Given the description of an element on the screen output the (x, y) to click on. 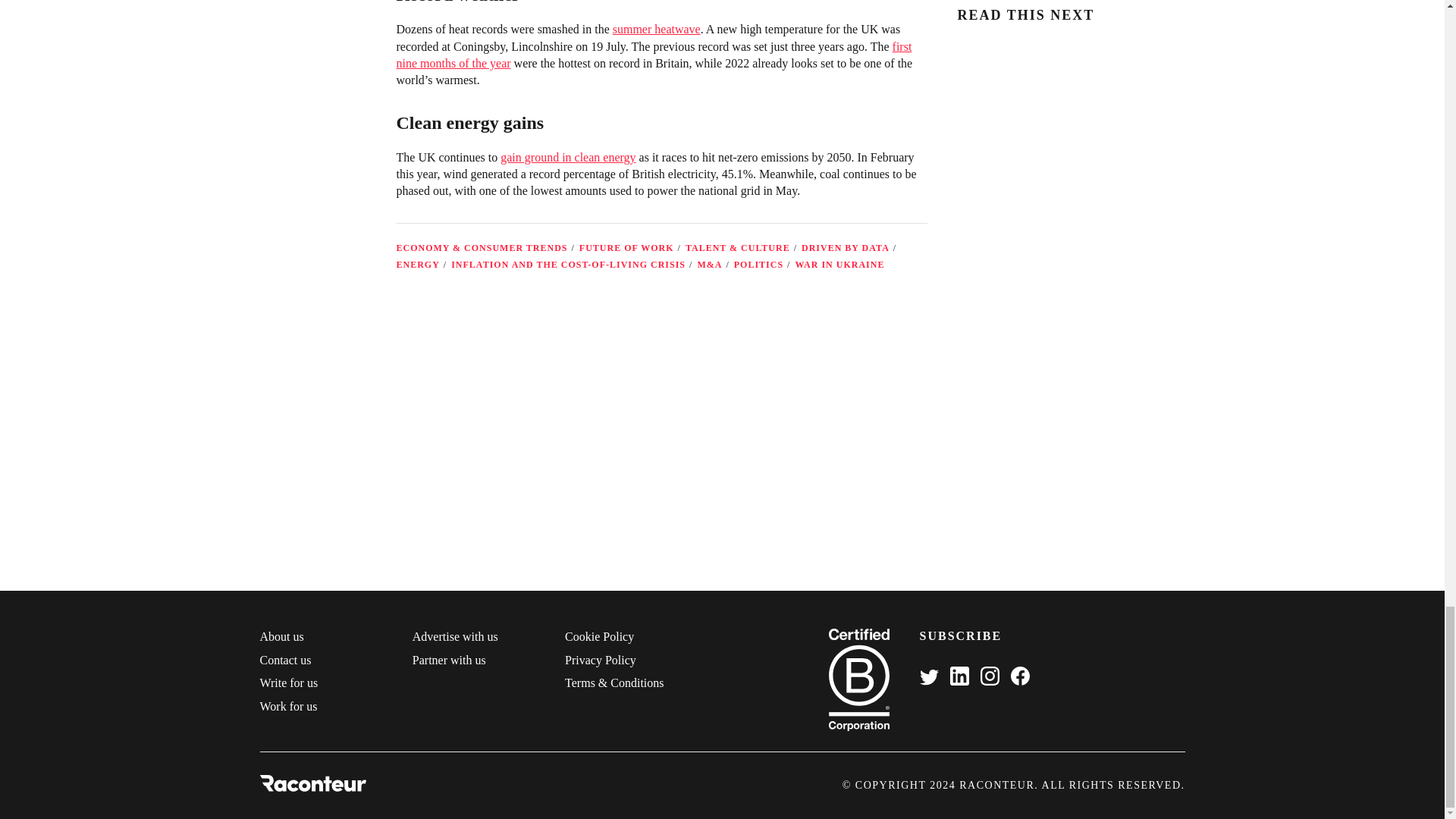
eatwave (680, 29)
FUTURE OF WORK (626, 247)
first nine months of the year (653, 54)
summer h (636, 29)
gain ground in clean energy (567, 156)
